Given the description of an element on the screen output the (x, y) to click on. 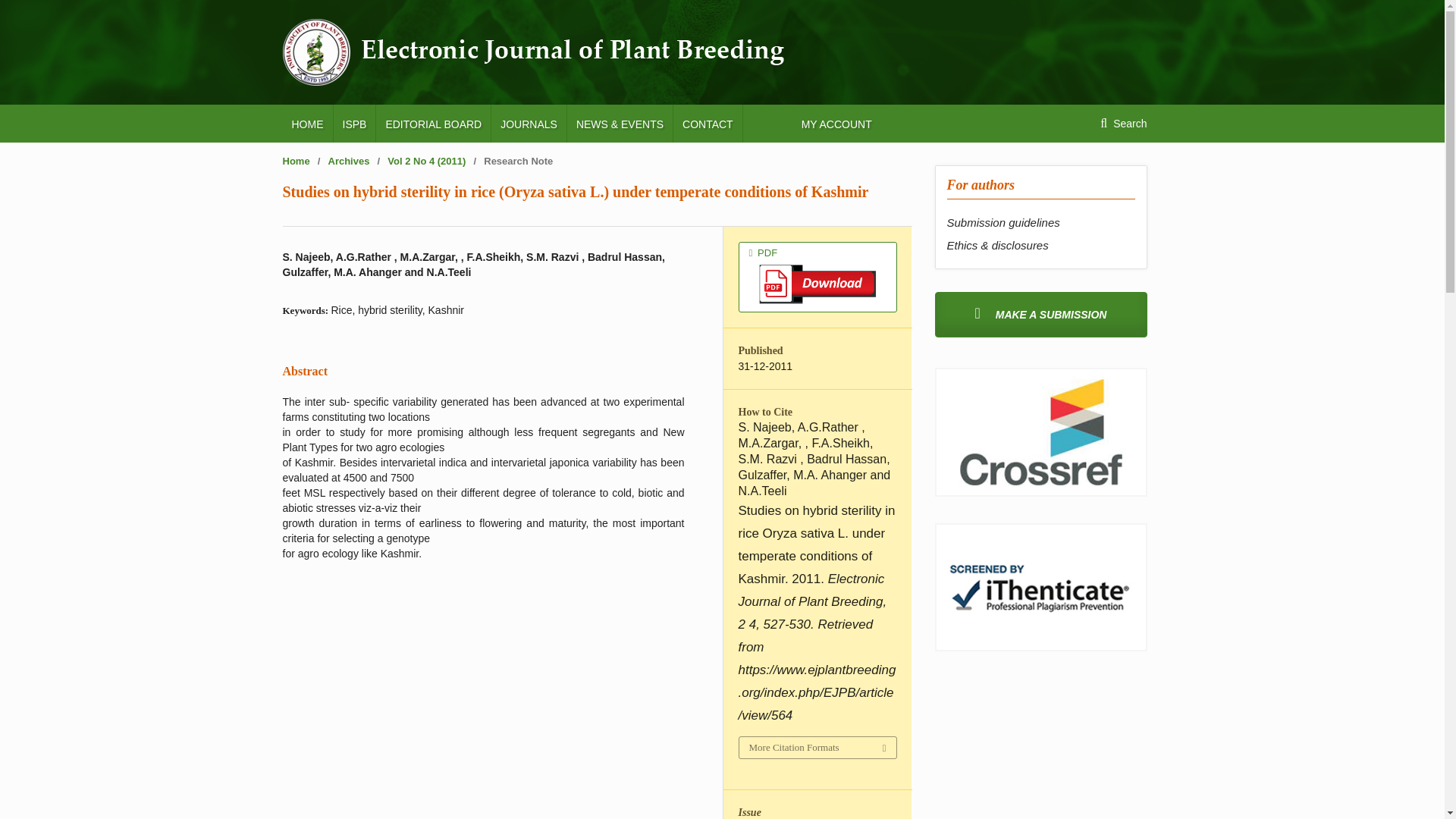
HOME (306, 123)
PDF (817, 276)
MY ACCOUNT (836, 123)
Archives (348, 160)
CONTACT (707, 123)
JOURNALS (529, 123)
More Citation Formats (816, 747)
Search (1122, 123)
EDITORIAL BOARD (432, 123)
Home (295, 160)
ISPB (354, 123)
